Given the description of an element on the screen output the (x, y) to click on. 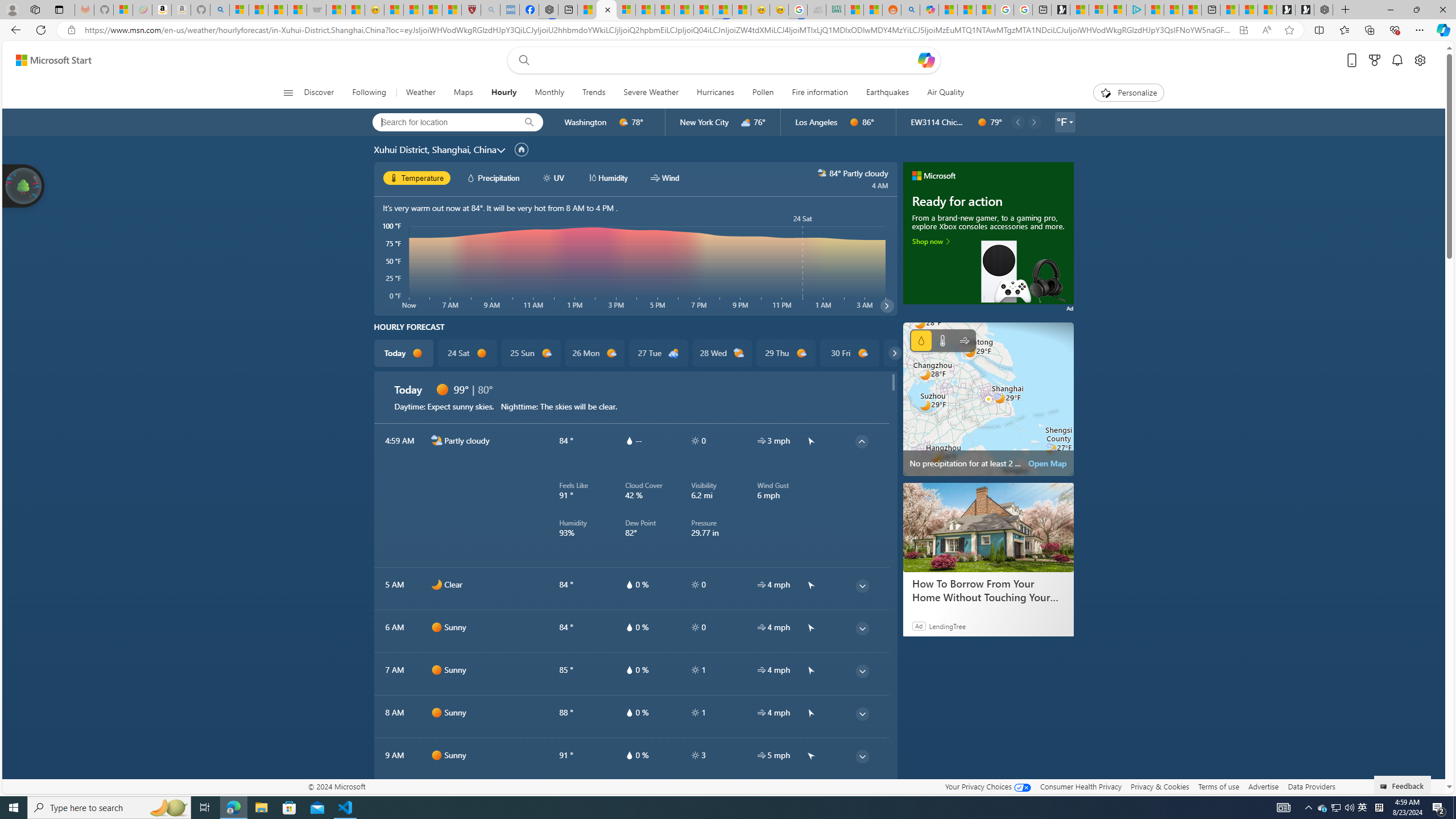
hourlyChart/windWhite Wind (664, 178)
hourlyChart/temperatureBlack (394, 177)
Precipitation (920, 340)
Air Quality (940, 92)
Join us in planting real trees to help our planet! (23, 184)
Class: feedback_link_icon-DS-EntryPoint1-1 (1384, 786)
